Given the description of an element on the screen output the (x, y) to click on. 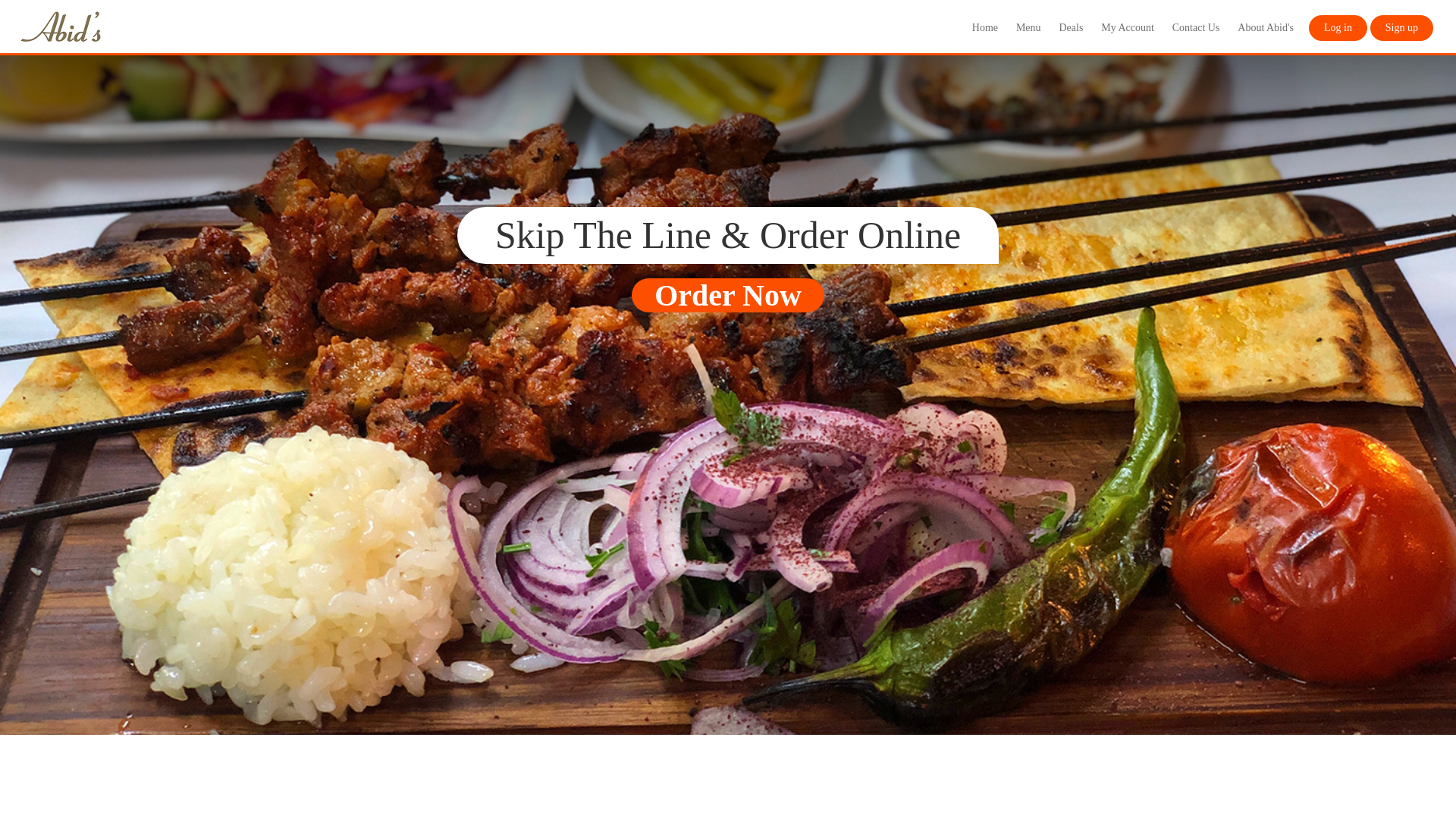
Menu (1028, 27)
Deals (1070, 27)
Home (984, 27)
Sign up (1401, 27)
Log in (1337, 27)
Order Now (727, 295)
Contact Us (1195, 27)
My Account (1127, 27)
About Abid's (1265, 27)
